Given the description of an element on the screen output the (x, y) to click on. 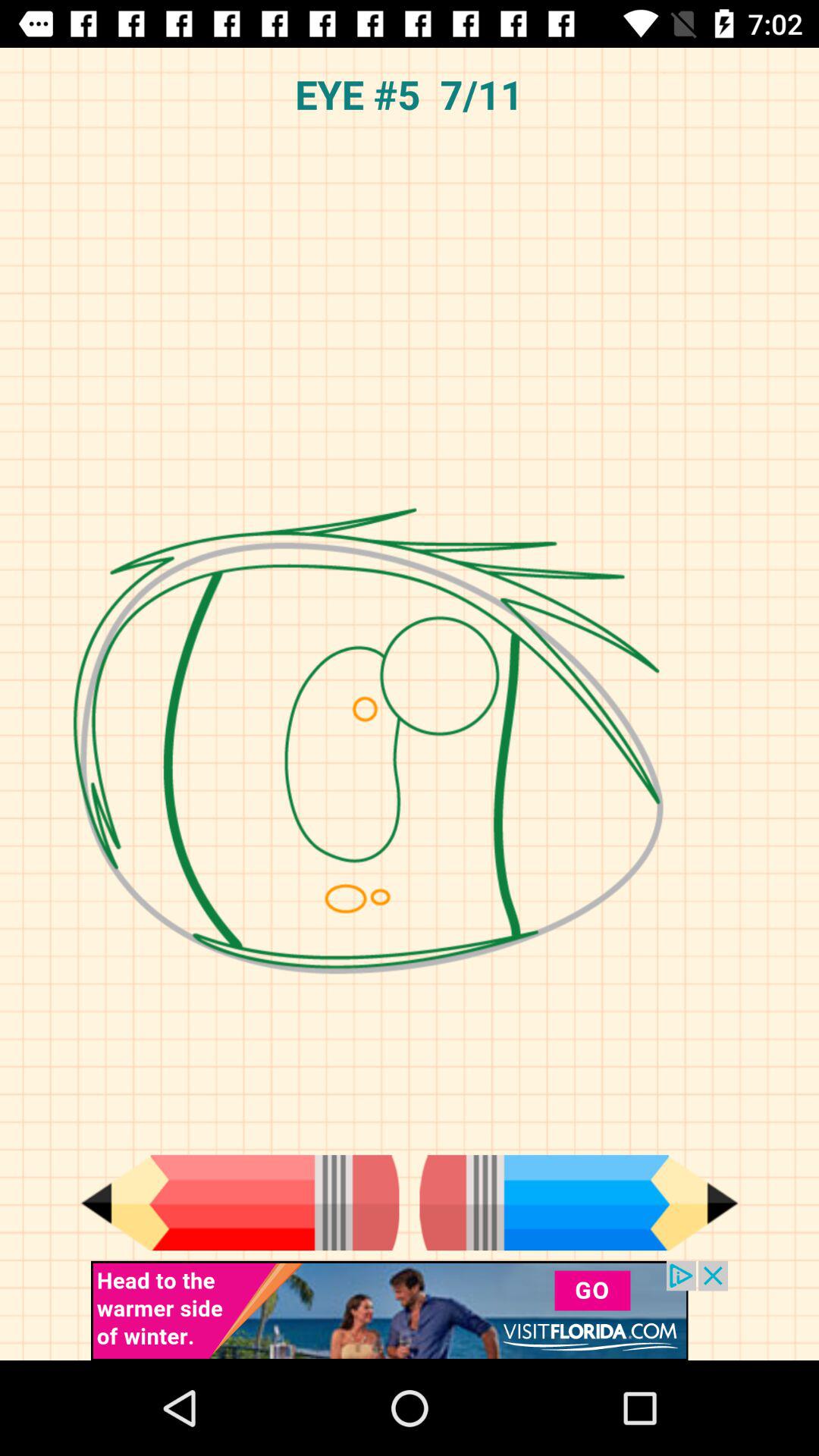
select red pencil option (239, 1202)
